Given the description of an element on the screen output the (x, y) to click on. 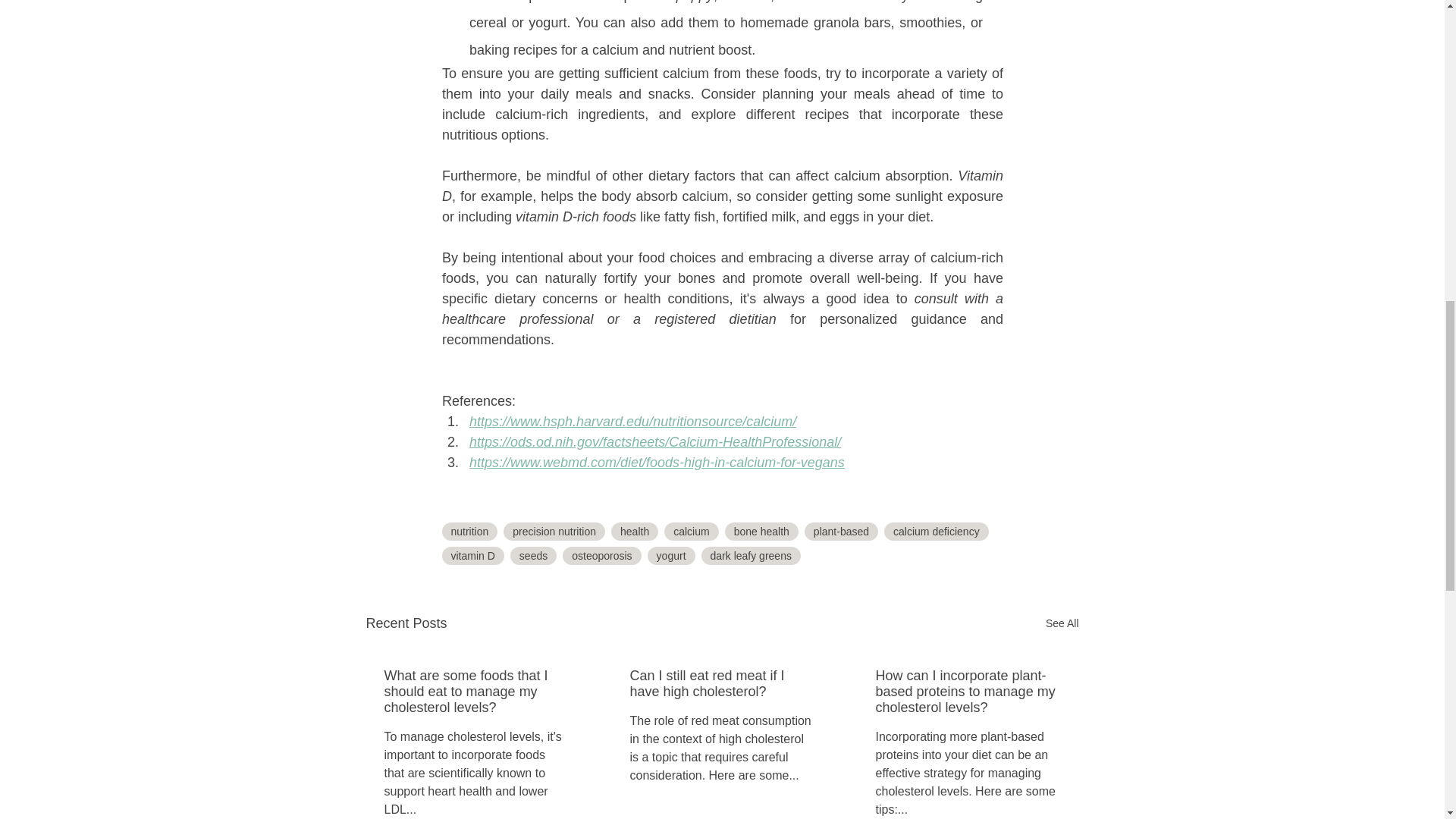
dark leafy greens (750, 556)
plant-based (841, 531)
calcium (690, 531)
bone health (761, 531)
health (634, 531)
precision nutrition (554, 531)
seeds (533, 556)
calcium deficiency (935, 531)
Can I still eat red meat if I have high cholesterol? (720, 684)
